Given the description of an element on the screen output the (x, y) to click on. 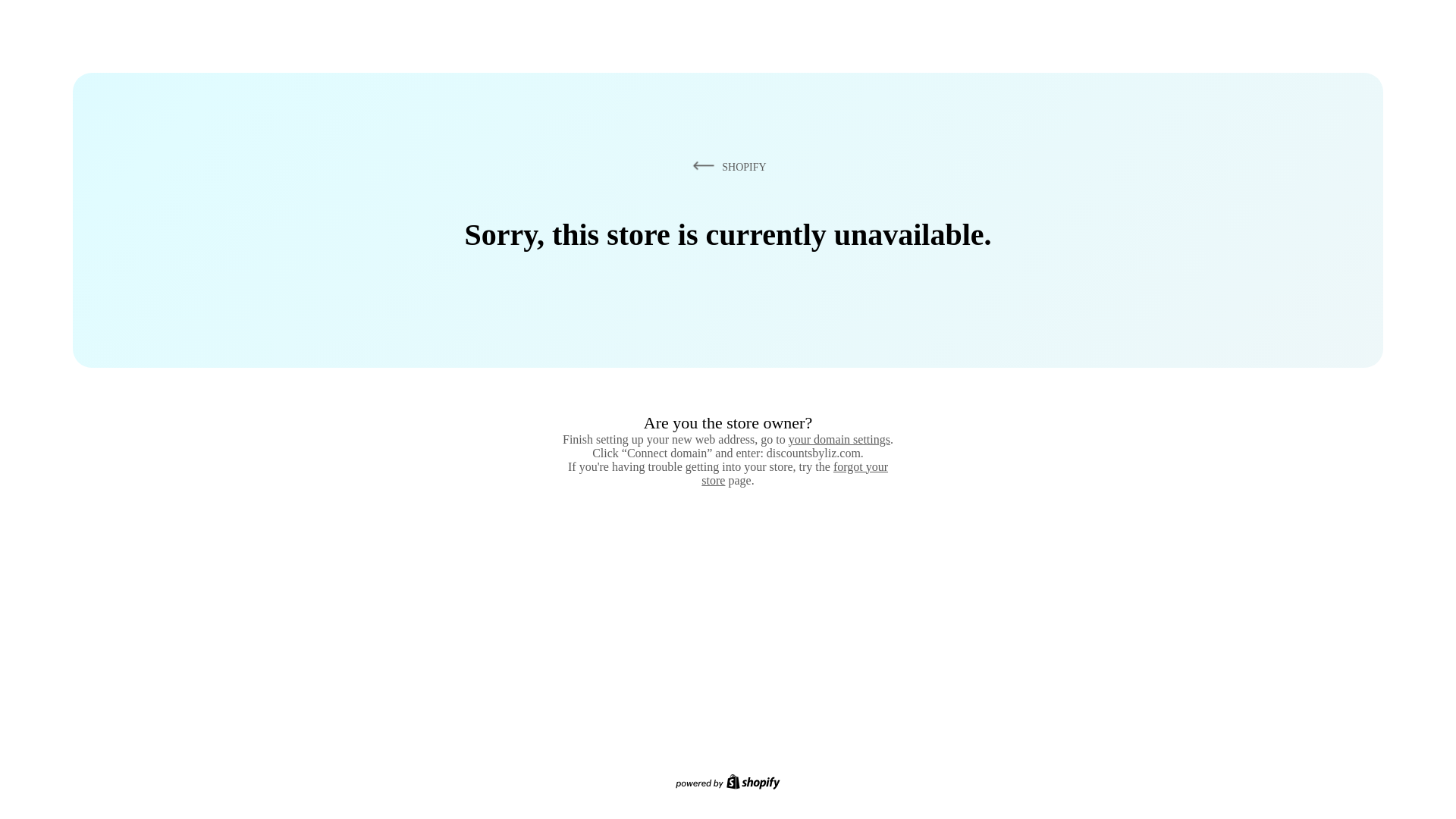
forgot your store (794, 473)
SHOPIFY (726, 166)
your domain settings (839, 439)
